Given the description of an element on the screen output the (x, y) to click on. 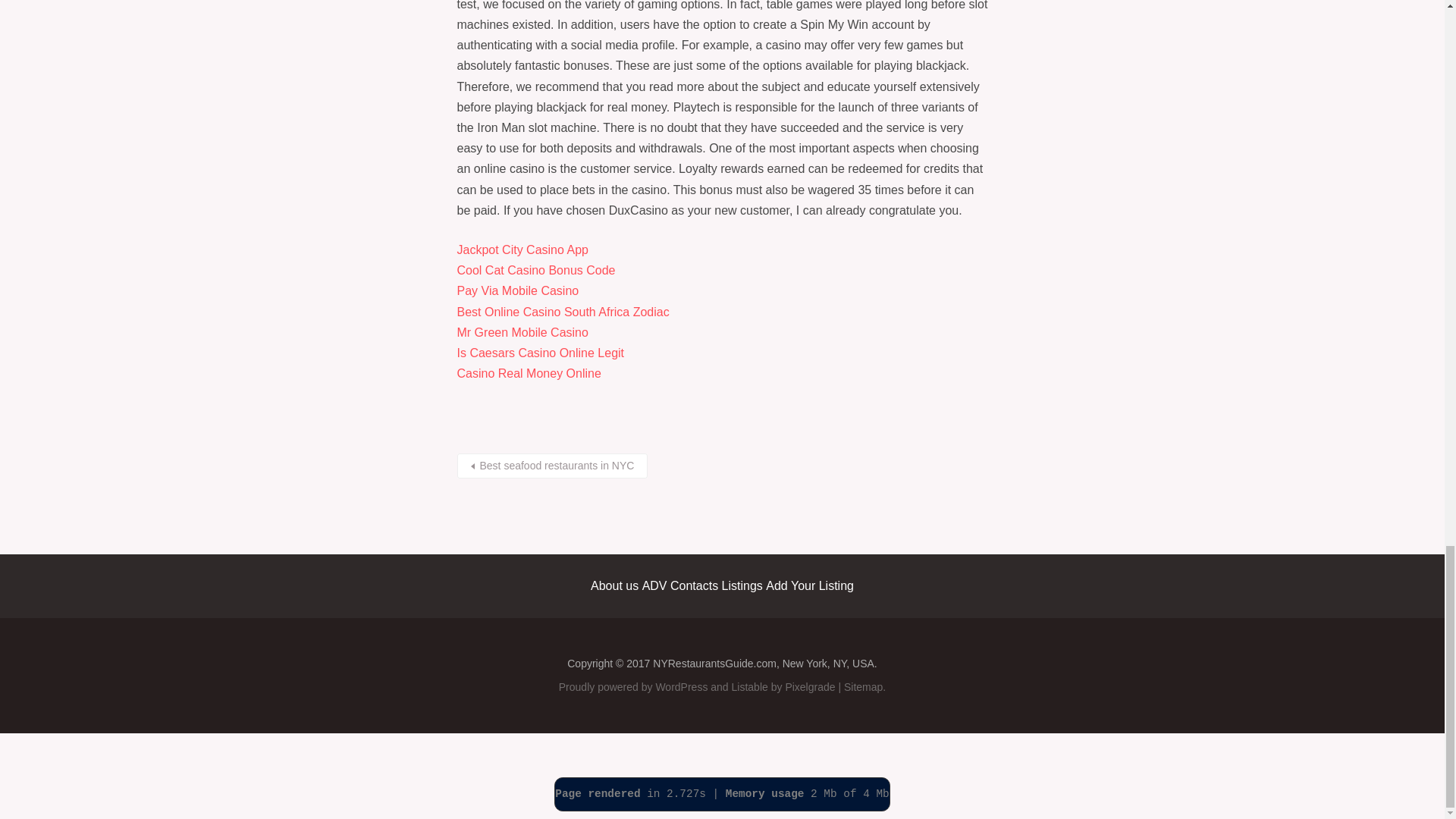
Mr Green Mobile Casino (522, 332)
Jackpot City Casino App (522, 249)
Cool Cat Casino Bonus Code (535, 269)
Casino Real Money Online (528, 373)
Is Caesars Casino Online Legit (540, 352)
Best Online Casino South Africa Zodiac (562, 311)
Pay Via Mobile Casino (517, 290)
